Given the description of an element on the screen output the (x, y) to click on. 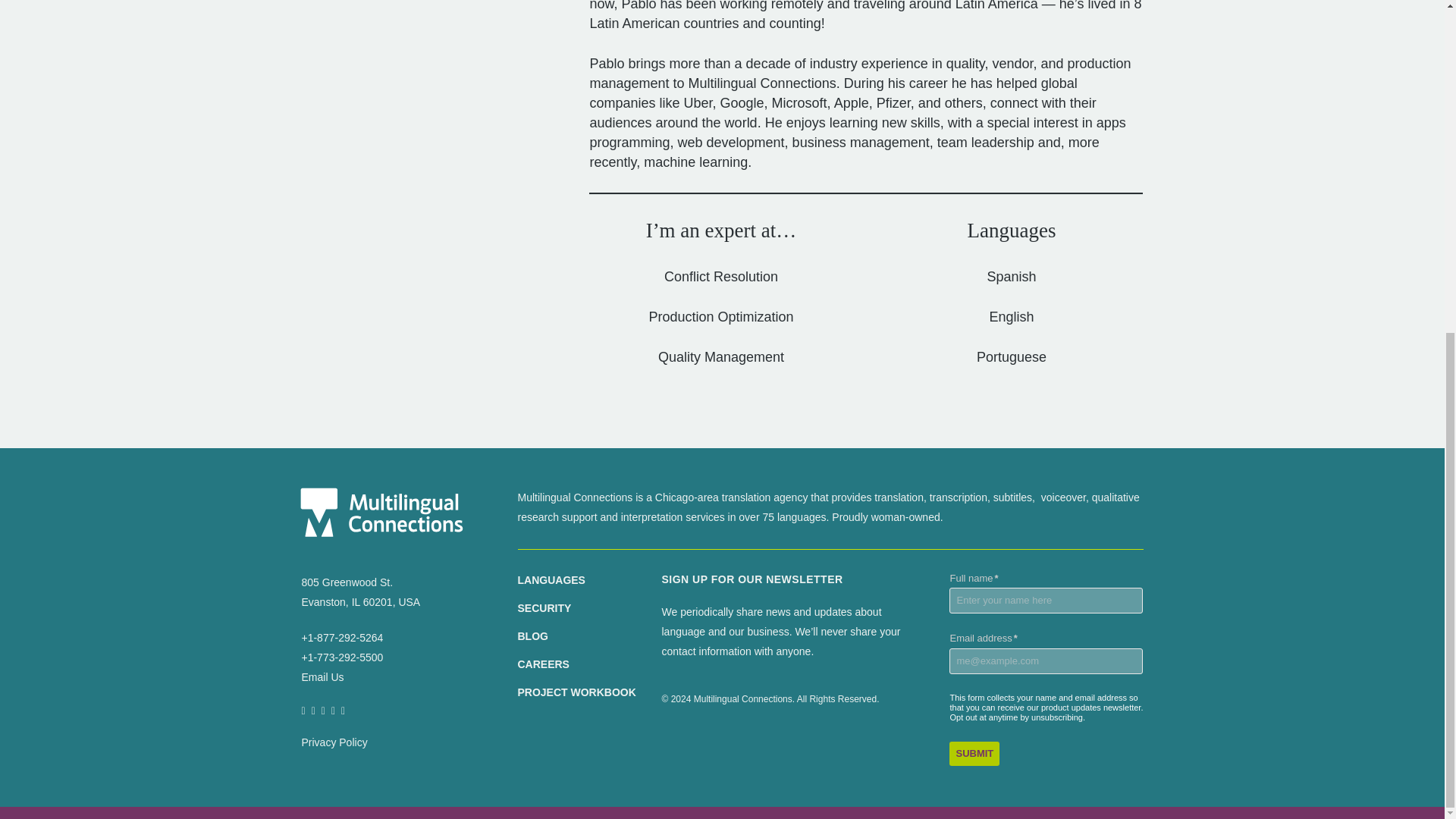
BLOG (531, 635)
Email Us (322, 676)
CAREERS (542, 664)
LANGUAGES (550, 580)
Privacy Policy (334, 742)
SECURITY (543, 607)
PROJECT WORKBOOK (575, 692)
SUBMIT (973, 753)
